Given the description of an element on the screen output the (x, y) to click on. 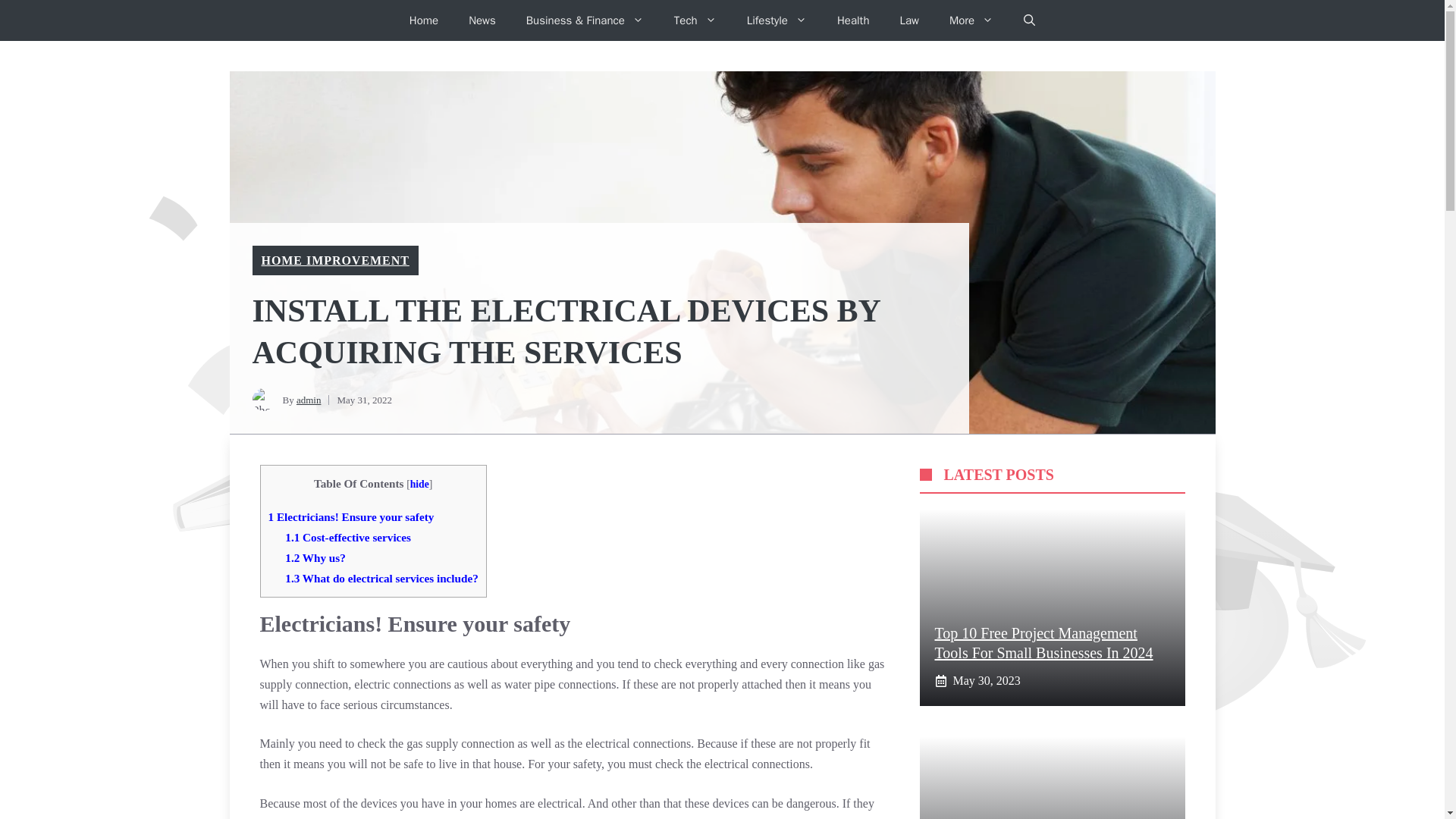
News (481, 20)
Lifestyle (777, 20)
Home (423, 20)
Tech (695, 20)
